Given the description of an element on the screen output the (x, y) to click on. 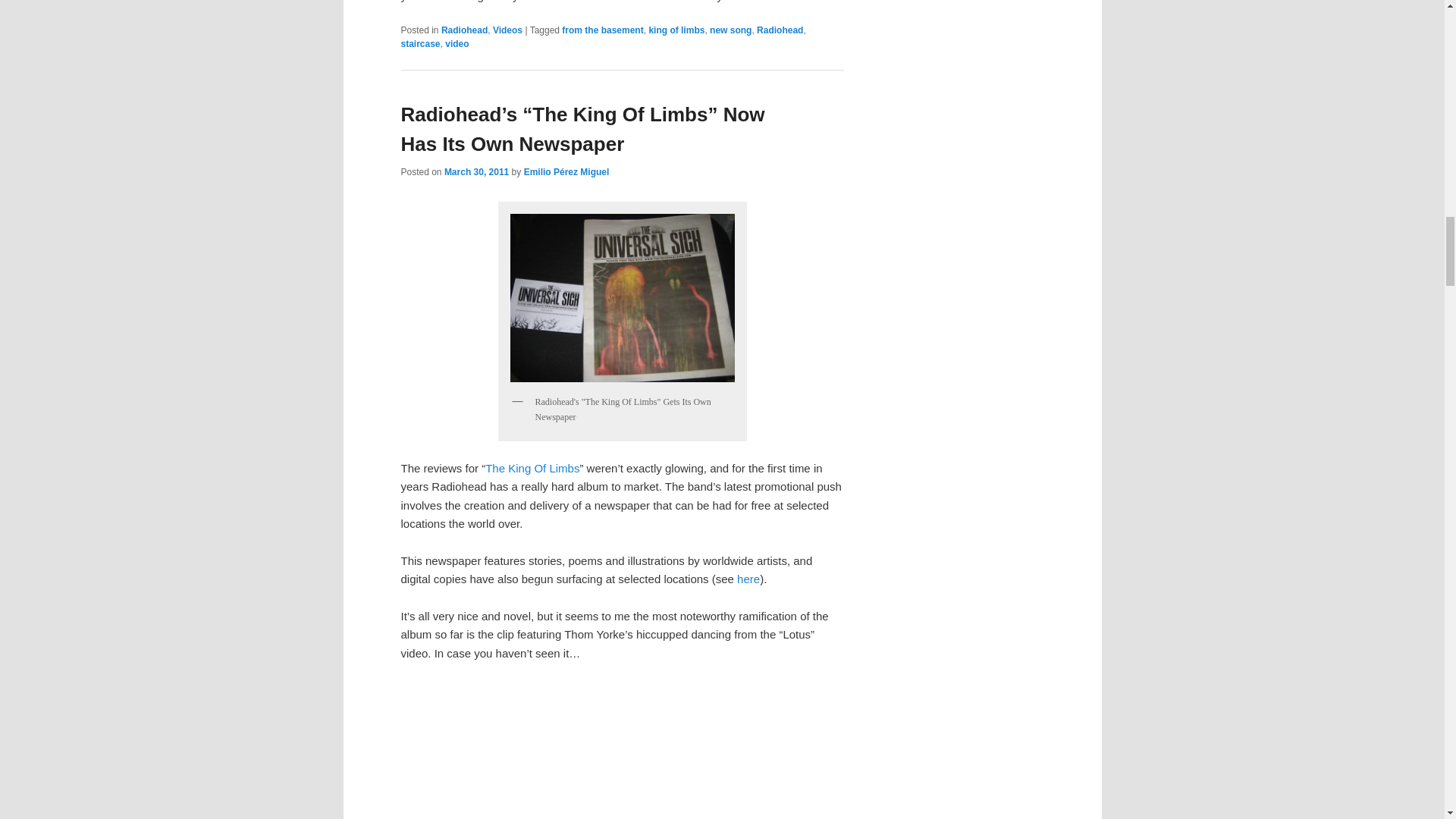
March 30, 2011 (476, 172)
king of limbs (675, 30)
here (748, 578)
Radiohead (780, 30)
from the basement (602, 30)
The King Of Limbs (531, 468)
Videos (507, 30)
3:51 pm (476, 172)
staircase (419, 43)
new song (730, 30)
radiohead king of limbs newspaper (622, 297)
video (456, 43)
Radiohead (464, 30)
